Given the description of an element on the screen output the (x, y) to click on. 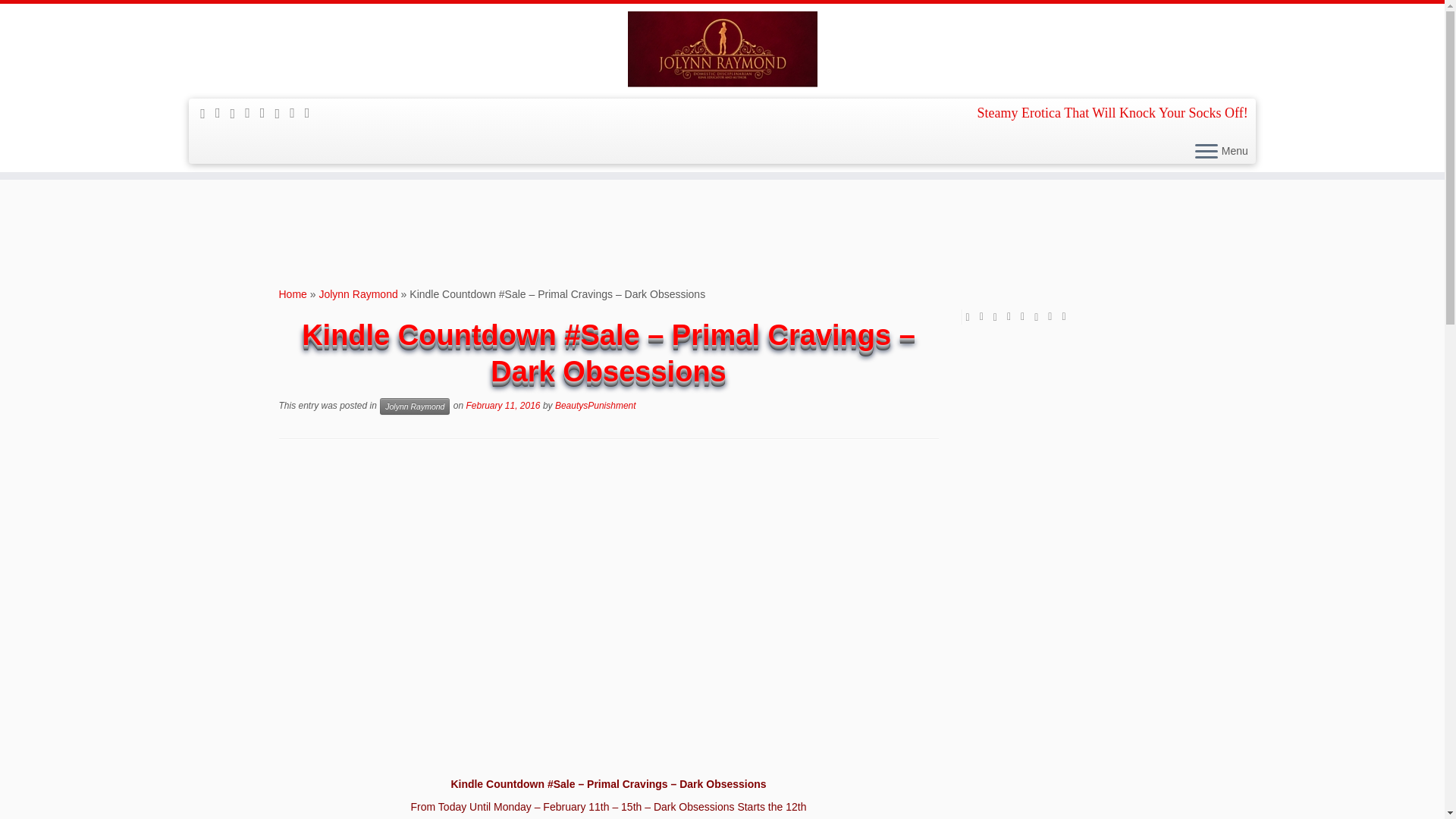
Jolynn Raymond (414, 406)
E-mail (222, 112)
Follow me on Facebook (252, 112)
Follow me on Instagram (282, 113)
BeautysPunishment (595, 405)
Subscribe to my rss feed (207, 113)
February 11, 2016 (502, 405)
Jolynn Raymond (357, 294)
Follow me on Twitter (238, 113)
Open the menu (1206, 151)
